Given the description of an element on the screen output the (x, y) to click on. 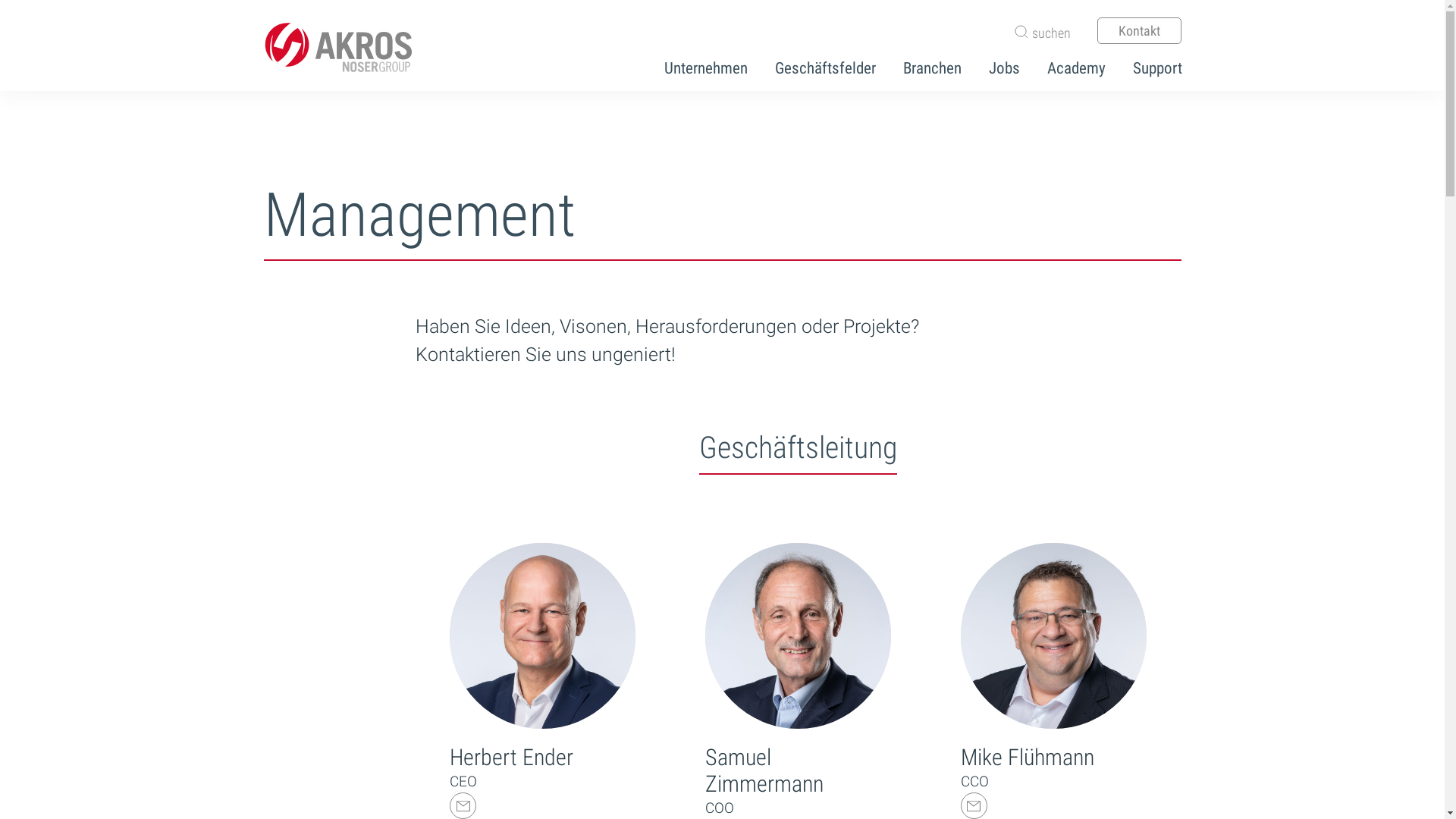
Unternehmen Element type: text (694, 67)
Kontakt Element type: text (1138, 30)
Branchen Element type: text (920, 67)
Academy Element type: text (1064, 67)
Support Element type: text (1146, 67)
Jobs Element type: text (992, 67)
